Given the description of an element on the screen output the (x, y) to click on. 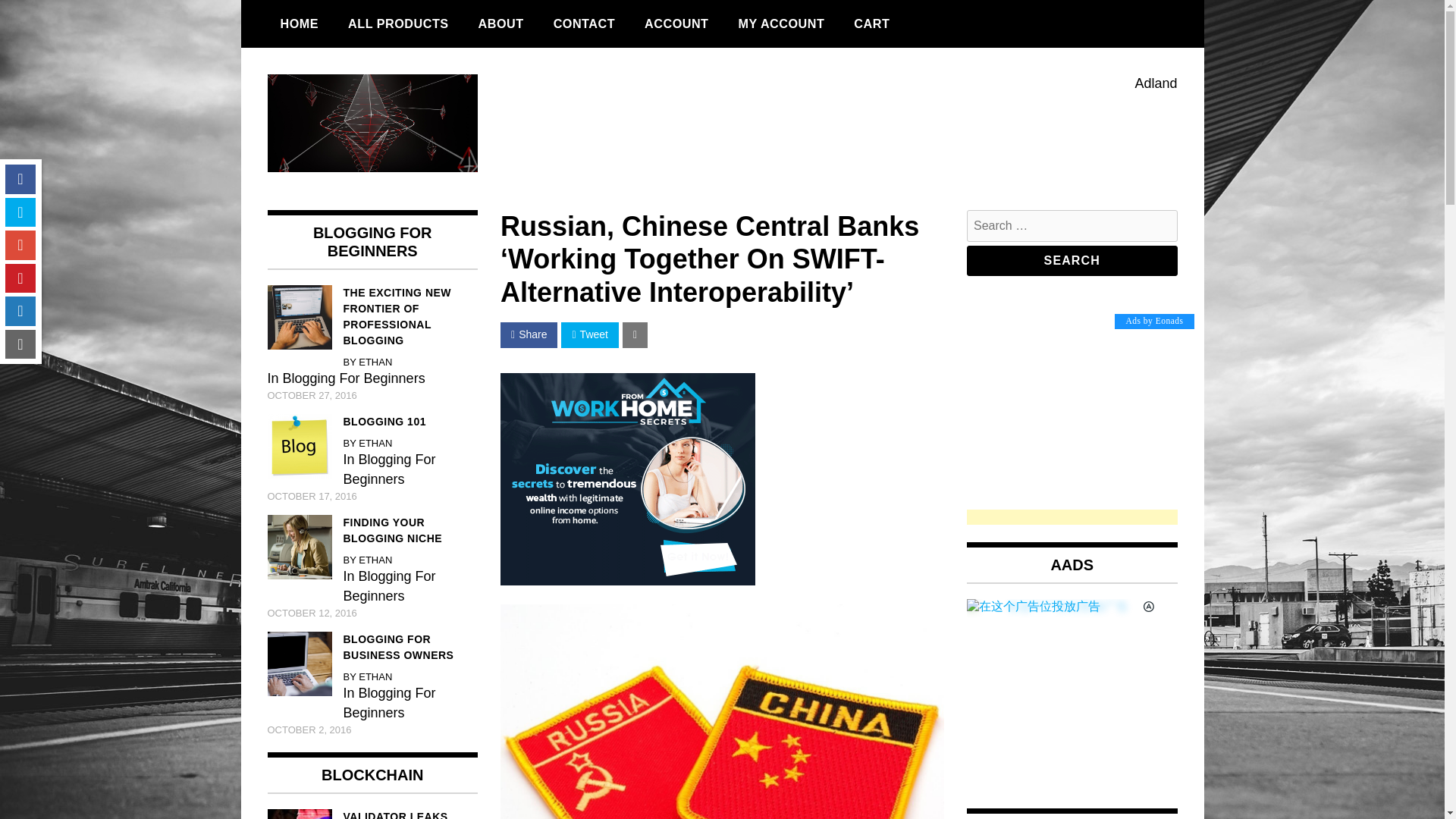
Share (528, 335)
ACCOUNT (676, 23)
HOME (298, 23)
ALL PRODUCTS (398, 23)
BLOGGING 101 (371, 421)
Share On Facebook (528, 335)
Work from Home Secrets (627, 580)
Tweet (588, 335)
Search (1071, 260)
ABOUT (501, 23)
Tweet on Twitter (588, 335)
MY ACCOUNT (780, 23)
CONTACT (583, 23)
Search (1071, 260)
Work from Home Secrets (627, 479)
